Given the description of an element on the screen output the (x, y) to click on. 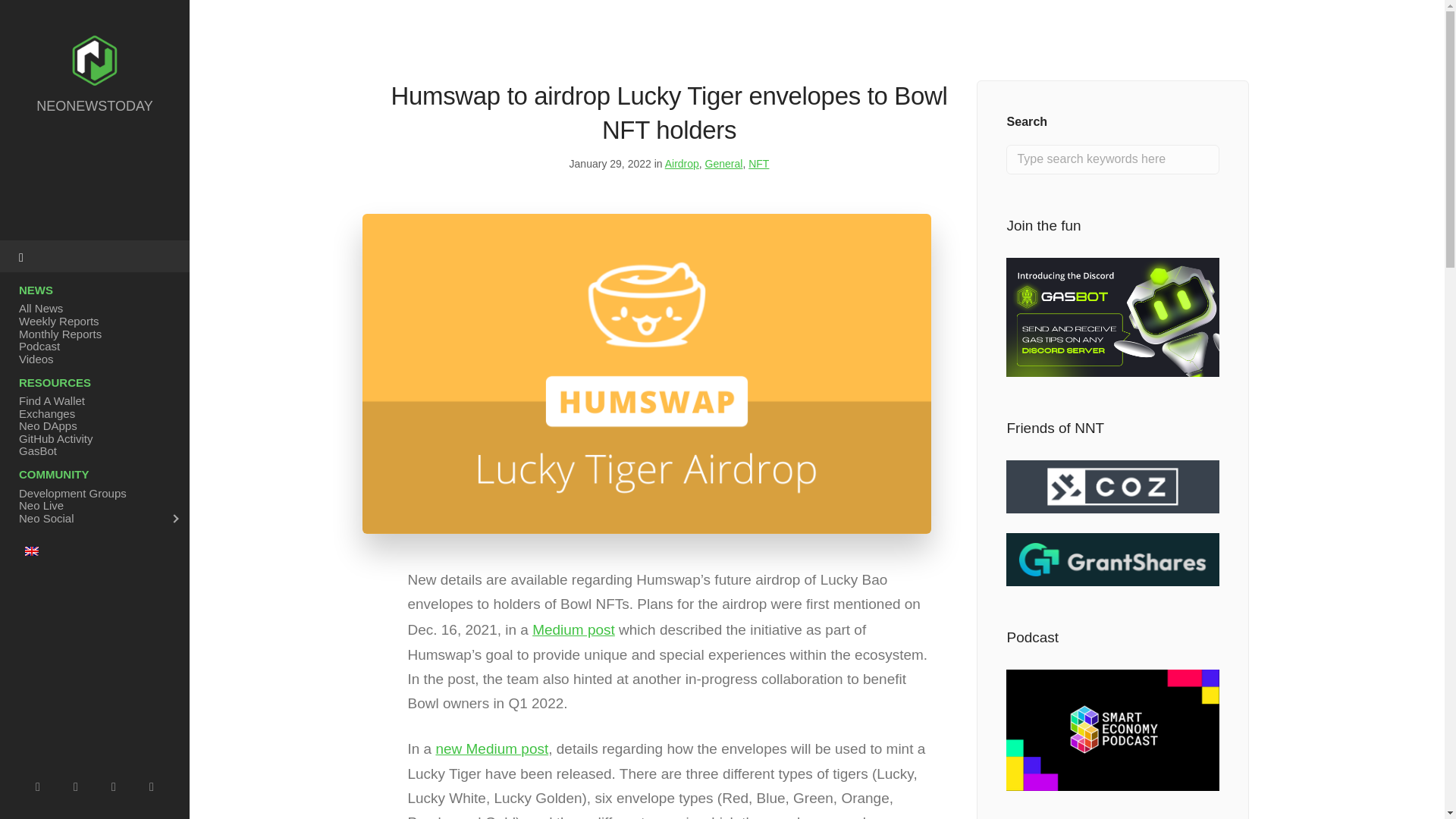
Neo Live (94, 504)
All News (94, 308)
Monthly Reports (94, 332)
GasBot (94, 450)
Medium post (573, 629)
NFT (758, 163)
General (723, 163)
Videos (94, 358)
Exchanges (94, 412)
Neo Social (94, 517)
